Given the description of an element on the screen output the (x, y) to click on. 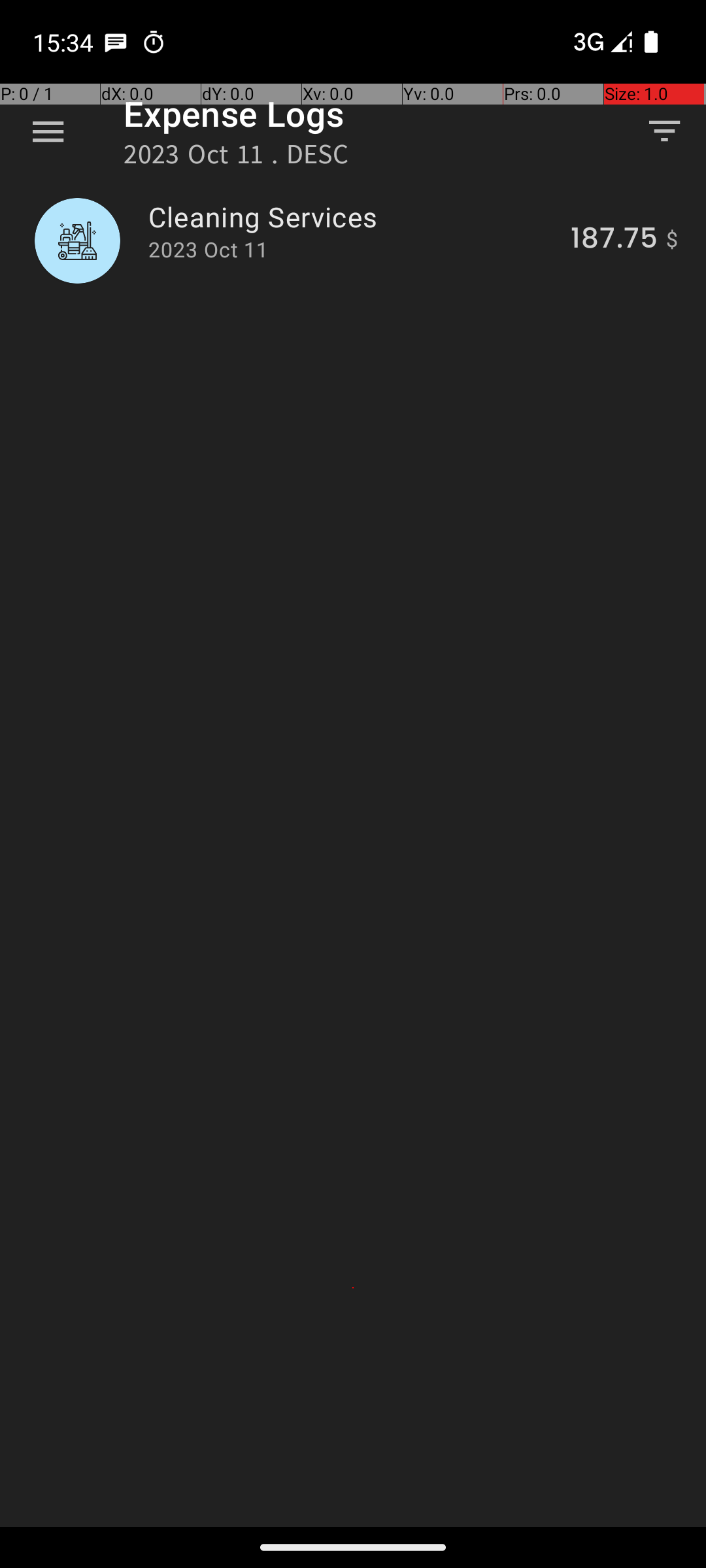
2023 Oct 11 . DESC Element type: android.widget.TextView (236, 157)
187.75 Element type: android.widget.TextView (614, 240)
